Given the description of an element on the screen output the (x, y) to click on. 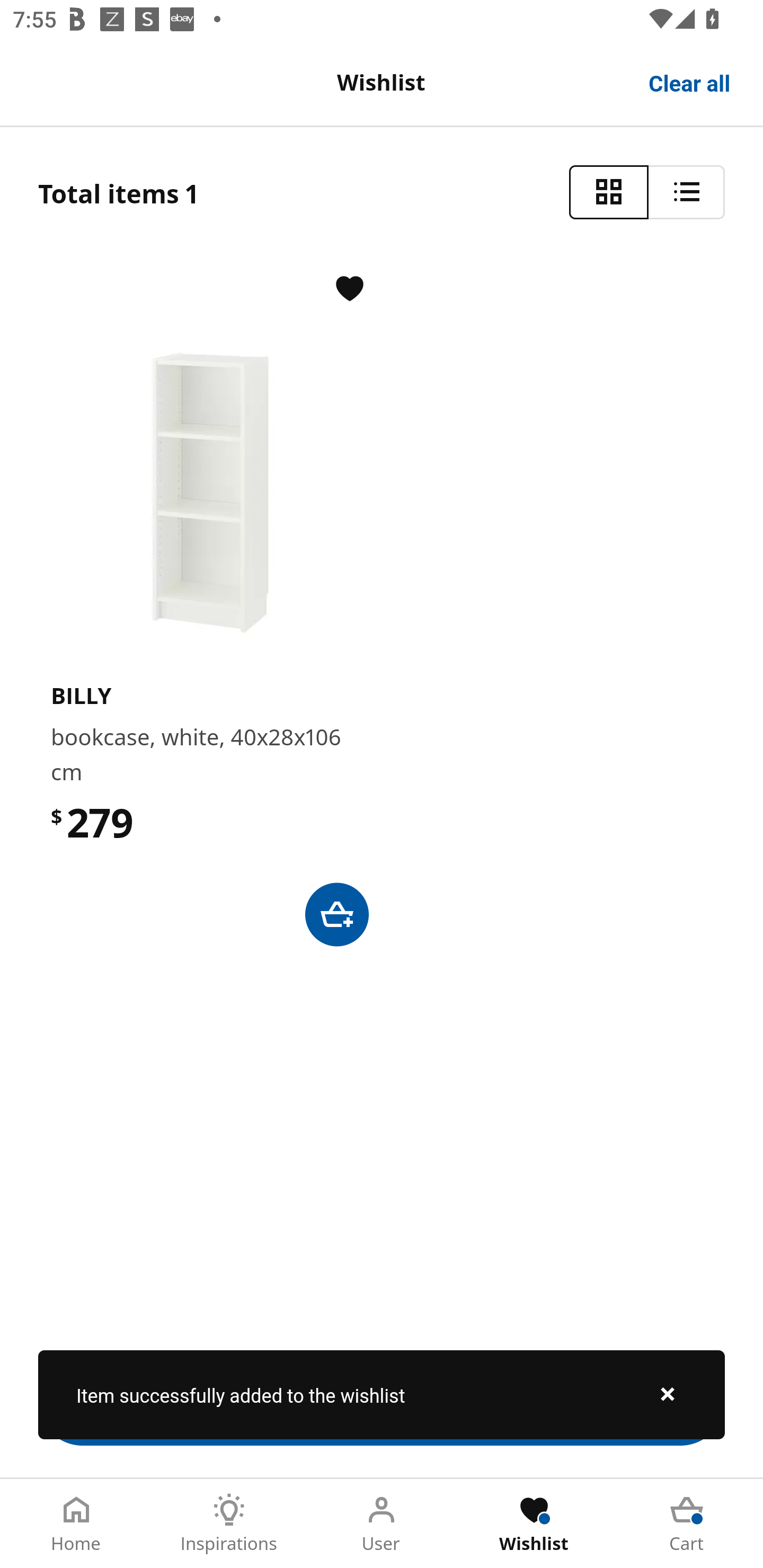
Clear all (689, 81)
​B​I​L​L​Y​
bookcase, white, 40x28x106 cm
$
279 (381, 608)
Add available items to cart (381, 1400)
Home
Tab 1 of 5 (76, 1522)
Inspirations
Tab 2 of 5 (228, 1522)
User
Tab 3 of 5 (381, 1522)
Wishlist
Tab 4 of 5 (533, 1522)
Cart
Tab 5 of 5 (686, 1522)
